Given the description of an element on the screen output the (x, y) to click on. 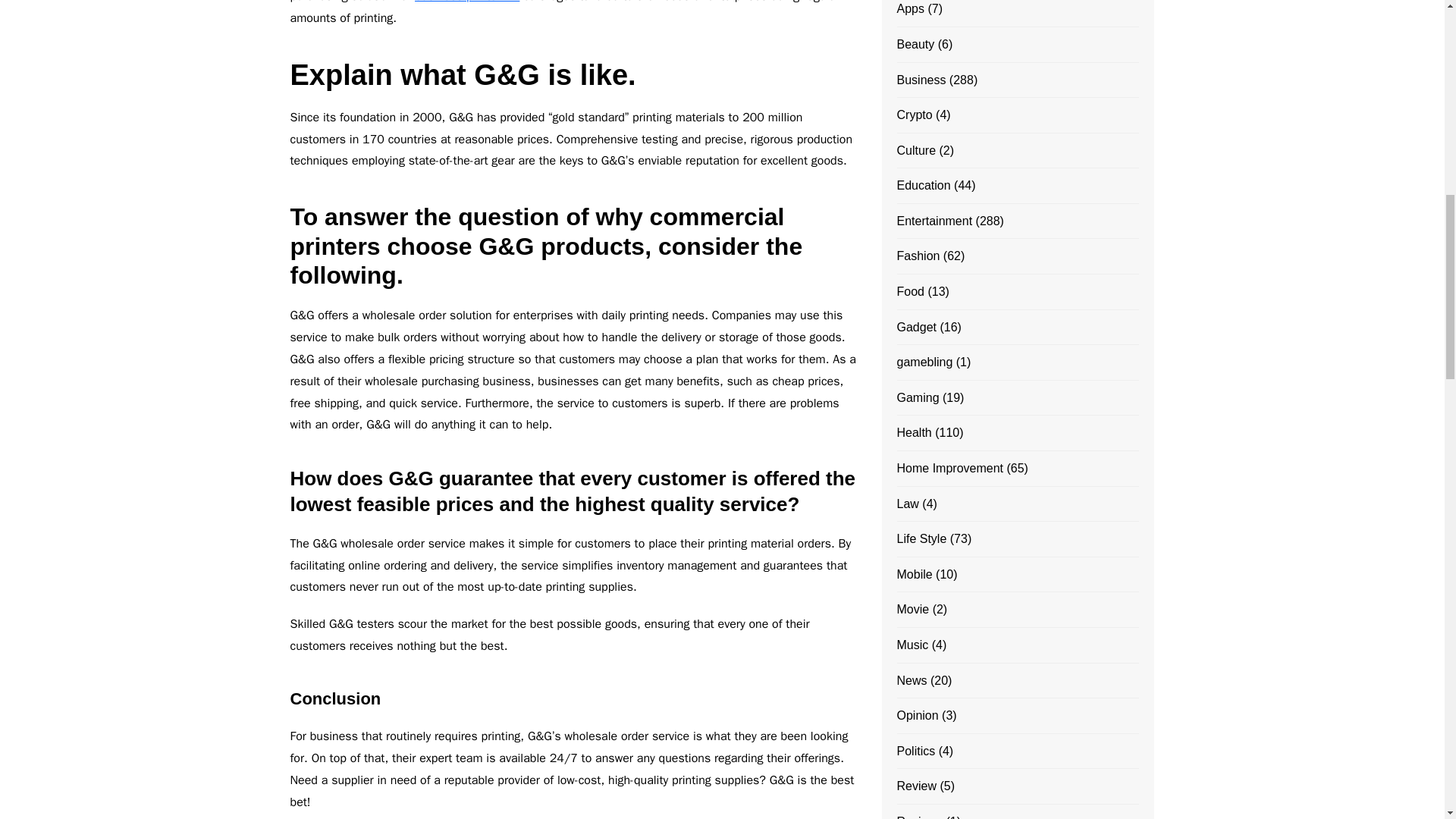
business printer ink (466, 2)
